Given the description of an element on the screen output the (x, y) to click on. 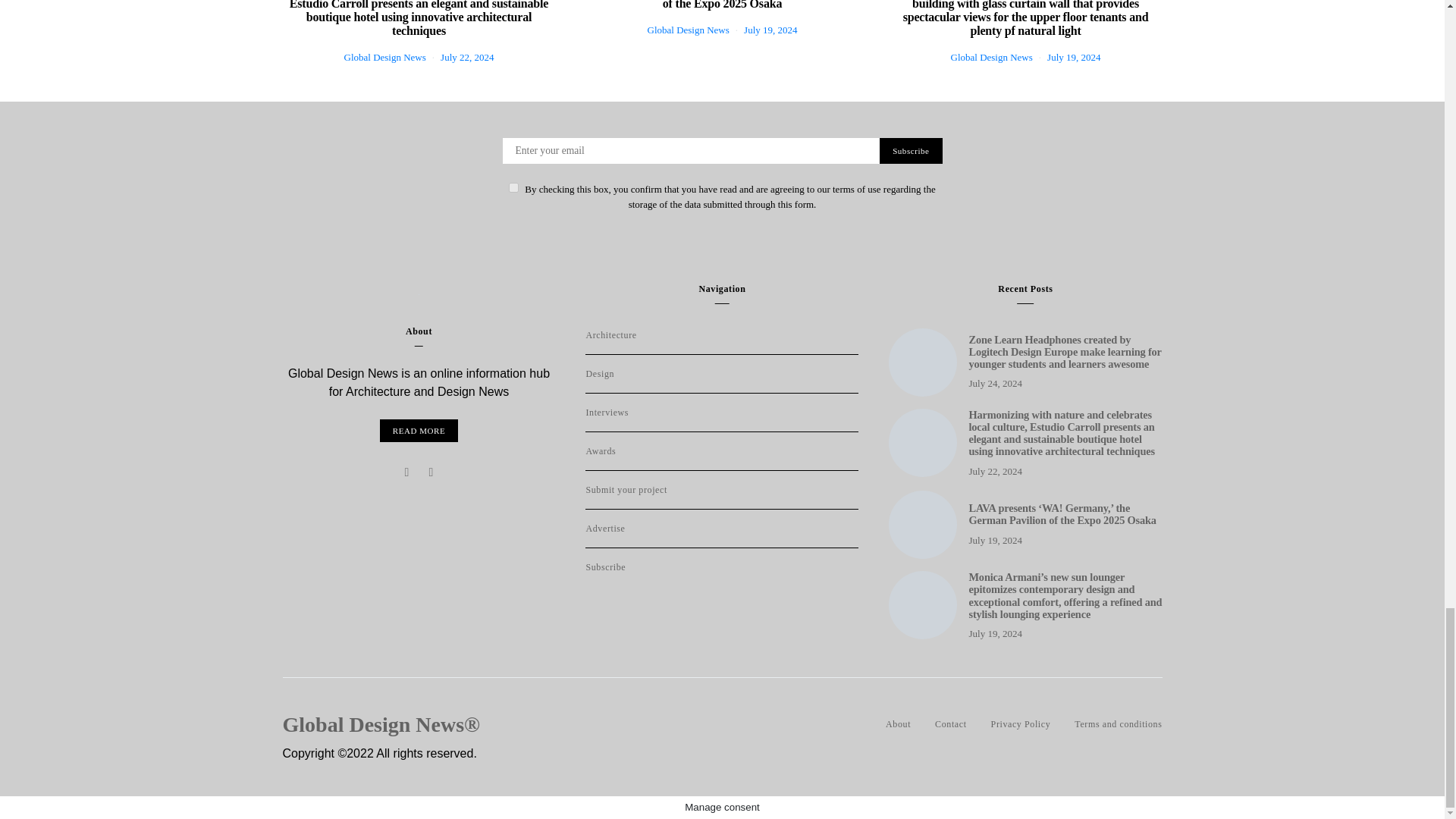
View all posts by Global Design News (384, 57)
View all posts by Global Design News (688, 30)
View all posts by Global Design News (991, 57)
on (513, 187)
